Given the description of an element on the screen output the (x, y) to click on. 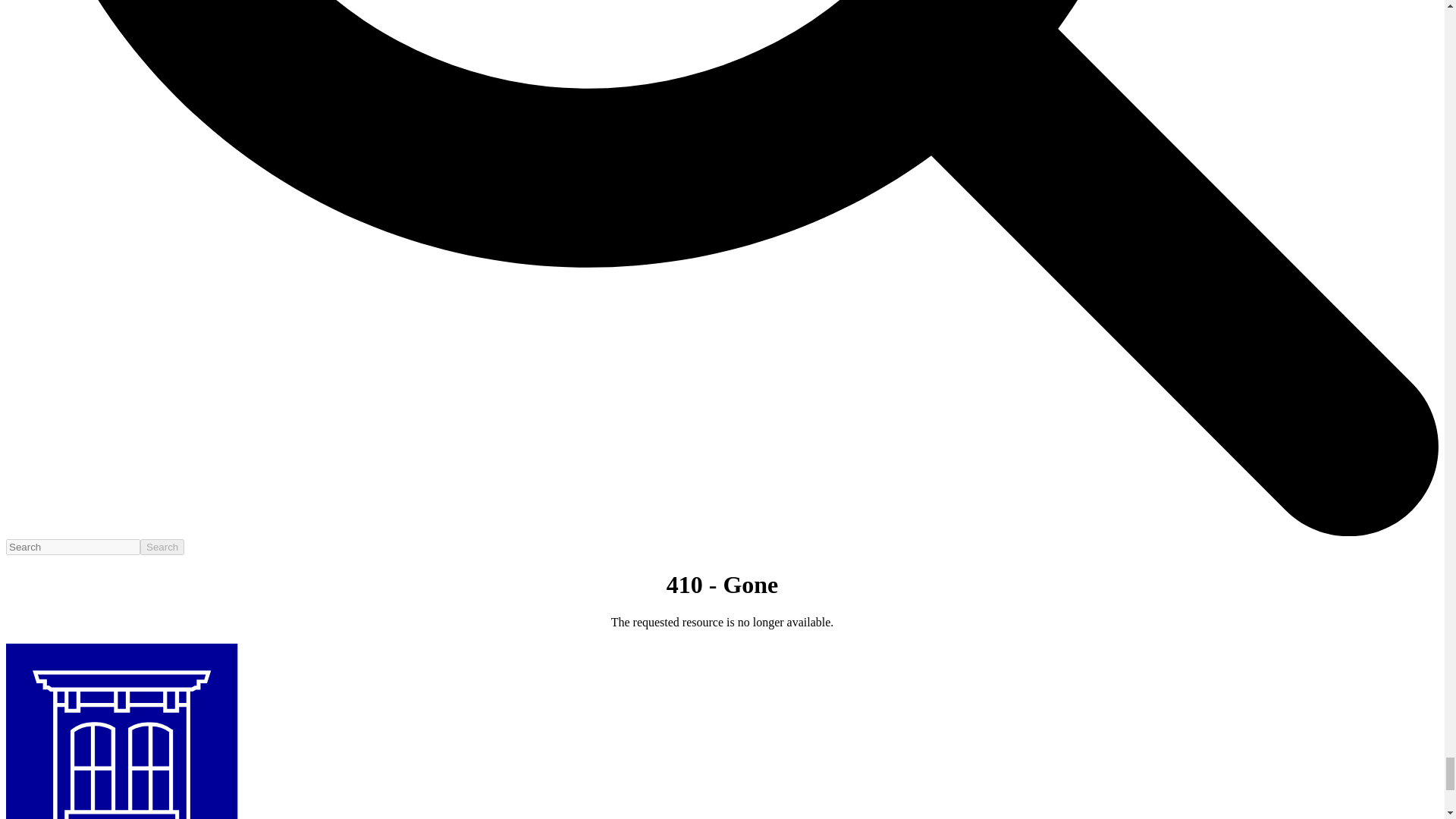
Search (161, 546)
